Given the description of an element on the screen output the (x, y) to click on. 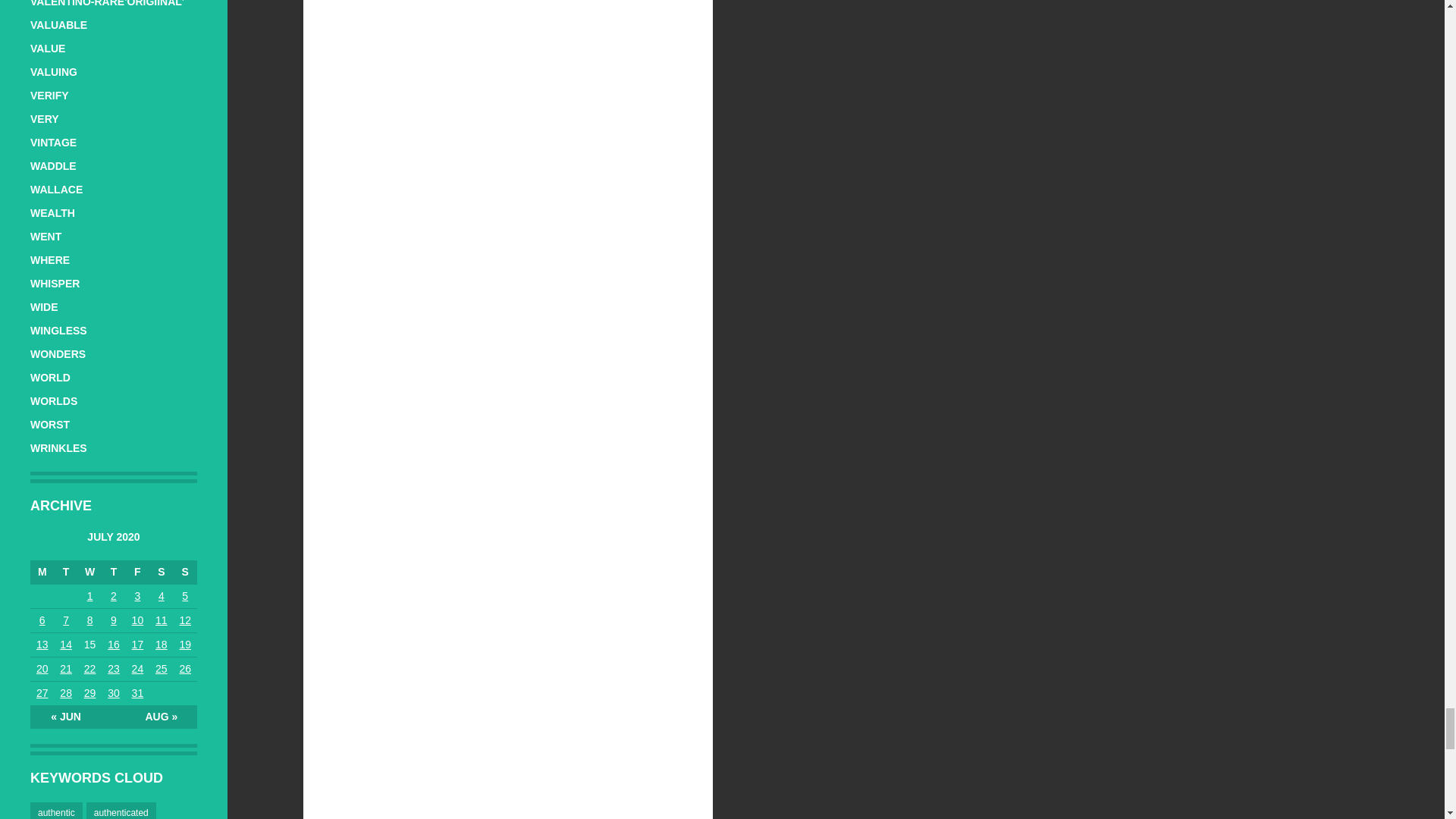
Monday (41, 572)
Saturday (161, 572)
Sunday (184, 572)
Wednesday (89, 572)
Friday (137, 572)
Tuesday (65, 572)
Thursday (113, 572)
